Given the description of an element on the screen output the (x, y) to click on. 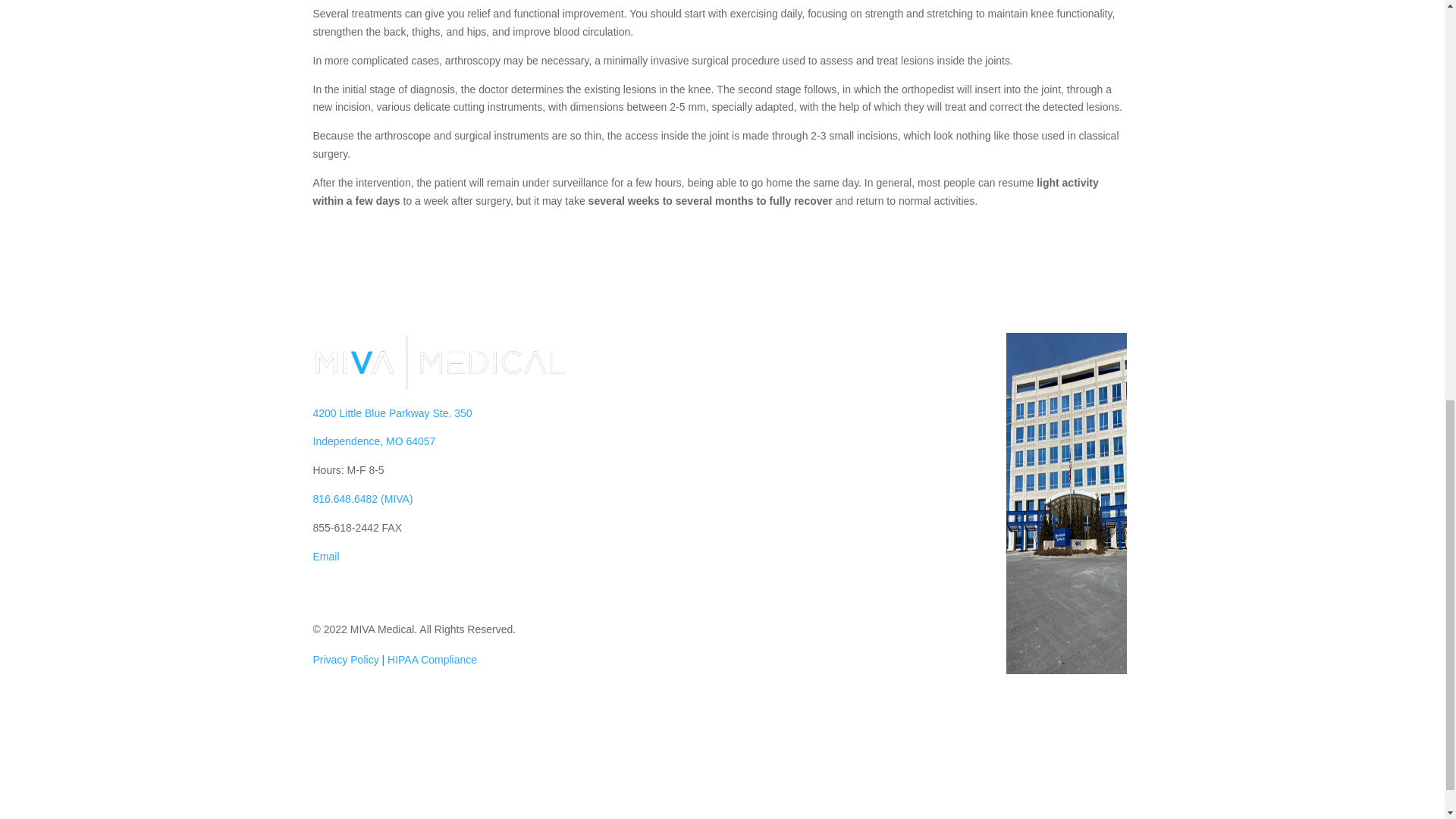
Independence, MO 64057 (374, 440)
4200 Little Blue Parkway Ste. 350 (392, 413)
logo (441, 362)
Privacy Policy (345, 659)
Follow on Facebook (324, 589)
Follow on X (354, 589)
HIPAA Compliance (432, 659)
Follow on Youtube (415, 589)
Follow on LinkedIn (384, 589)
Email (326, 556)
